Given the description of an element on the screen output the (x, y) to click on. 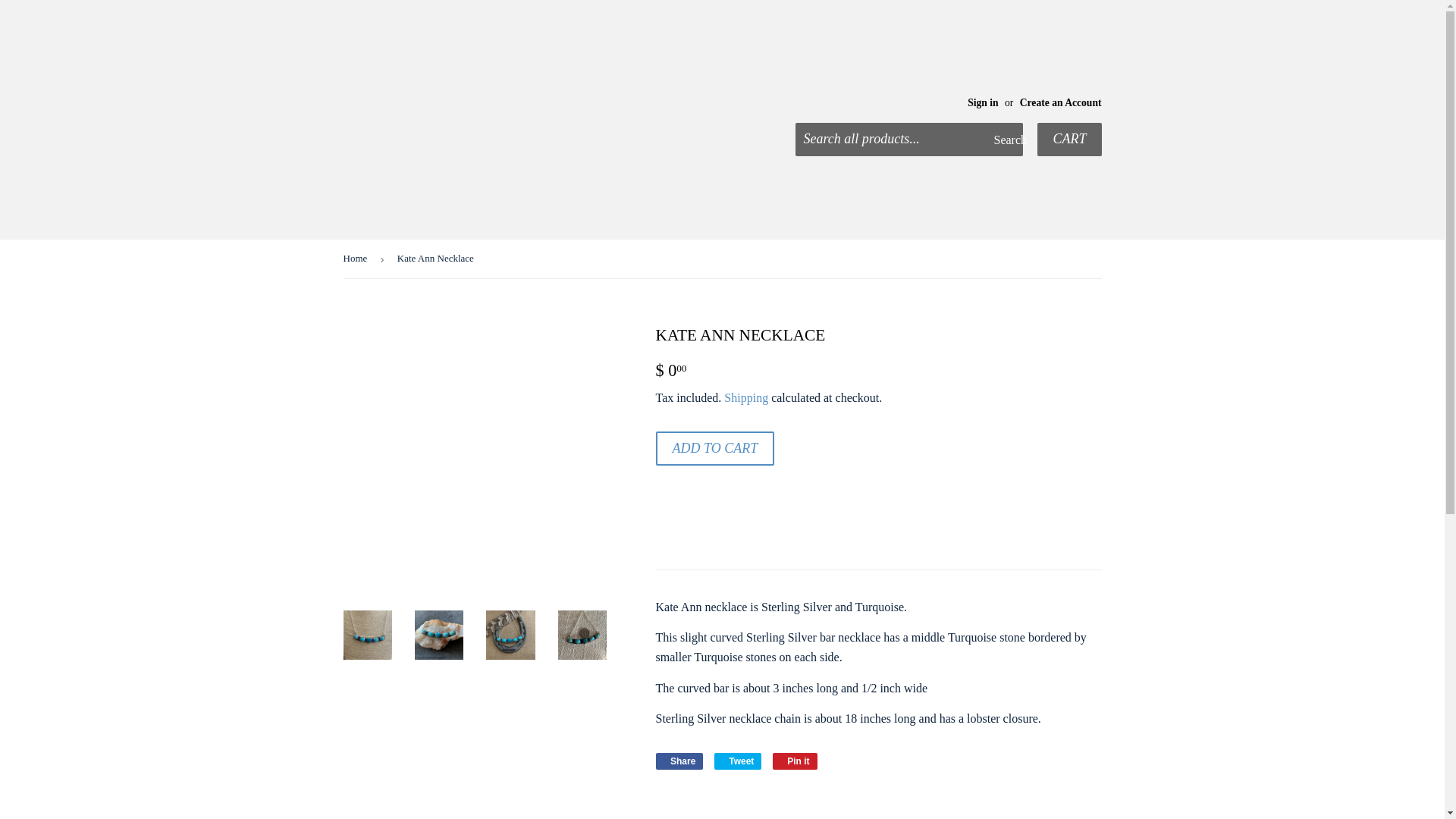
Sign in (982, 102)
CART (1068, 139)
Search (679, 760)
Share on Facebook (1005, 140)
ADD TO CART (679, 760)
Shipping (714, 448)
Pin on Pinterest (745, 397)
Create an Account (794, 760)
Tweet on Twitter (794, 760)
